Given the description of an element on the screen output the (x, y) to click on. 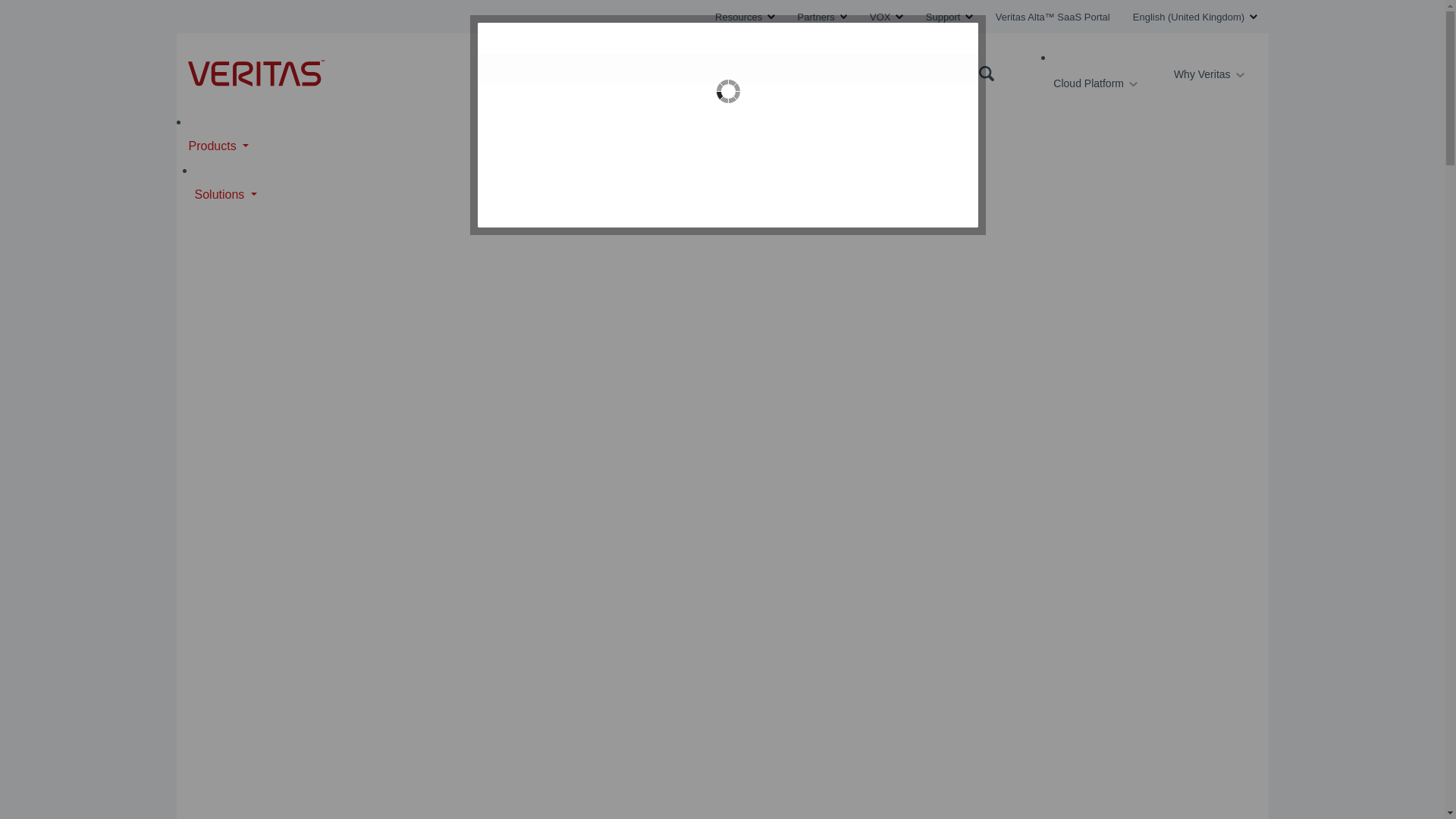
VOX (885, 16)
Resources (744, 16)
TrustArc Cookie Consent Manager (727, 124)
Support (949, 16)
Partners (822, 16)
